Given the description of an element on the screen output the (x, y) to click on. 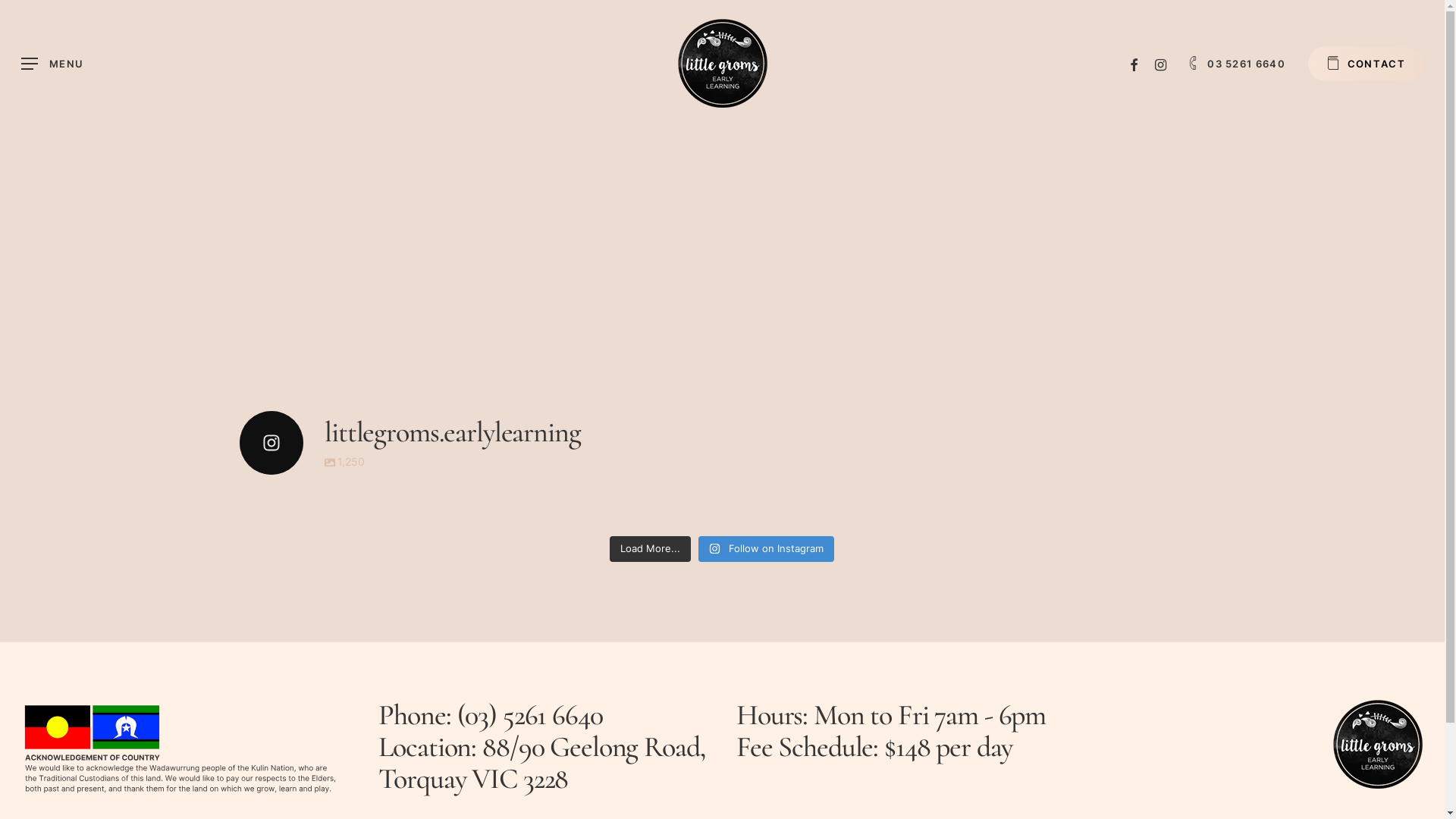
03 5261 6640 Element type: text (1235, 64)
littlegroms.earlylearning
1,250 Element type: text (721, 442)
88/90 Geelong Road, Torquay VIC 3228 Element type: text (541, 762)
FACEBOOK Element type: text (1133, 63)
INSTAGRAM Element type: text (1160, 63)
Follow on Instagram Element type: text (766, 548)
CONTACT Element type: text (1365, 64)
Load More... Element type: text (649, 548)
MENU Element type: text (52, 64)
(03) 5261 6640 Element type: text (529, 714)
